Given the description of an element on the screen output the (x, y) to click on. 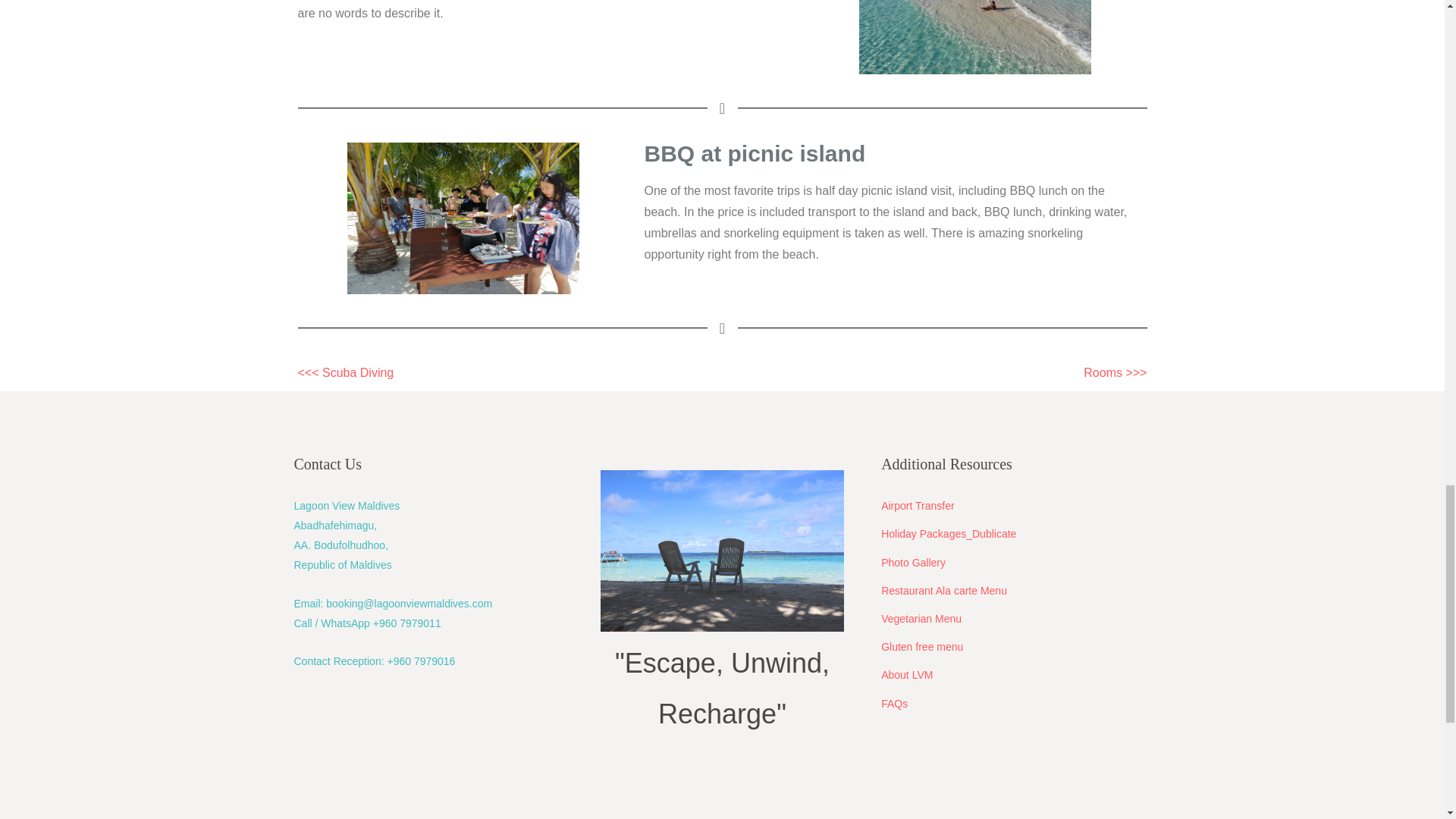
Gluten free menu (921, 646)
Airport Transfer (916, 505)
Vegetarian Menu (920, 618)
Restaurant Ala carte Menu (943, 590)
Photo Gallery (912, 562)
About LVM (906, 674)
FAQs (893, 703)
